Given the description of an element on the screen output the (x, y) to click on. 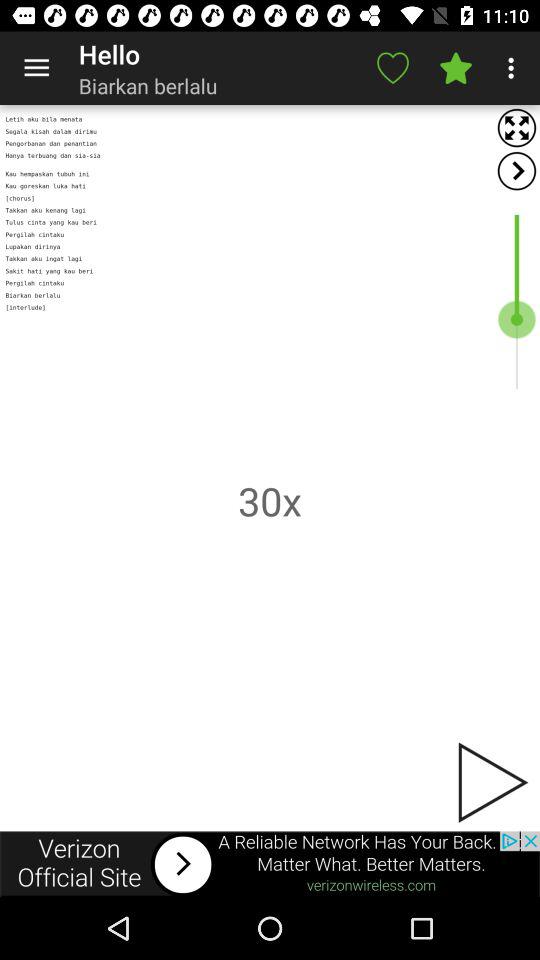
click for advertisement information (270, 864)
